Given the description of an element on the screen output the (x, y) to click on. 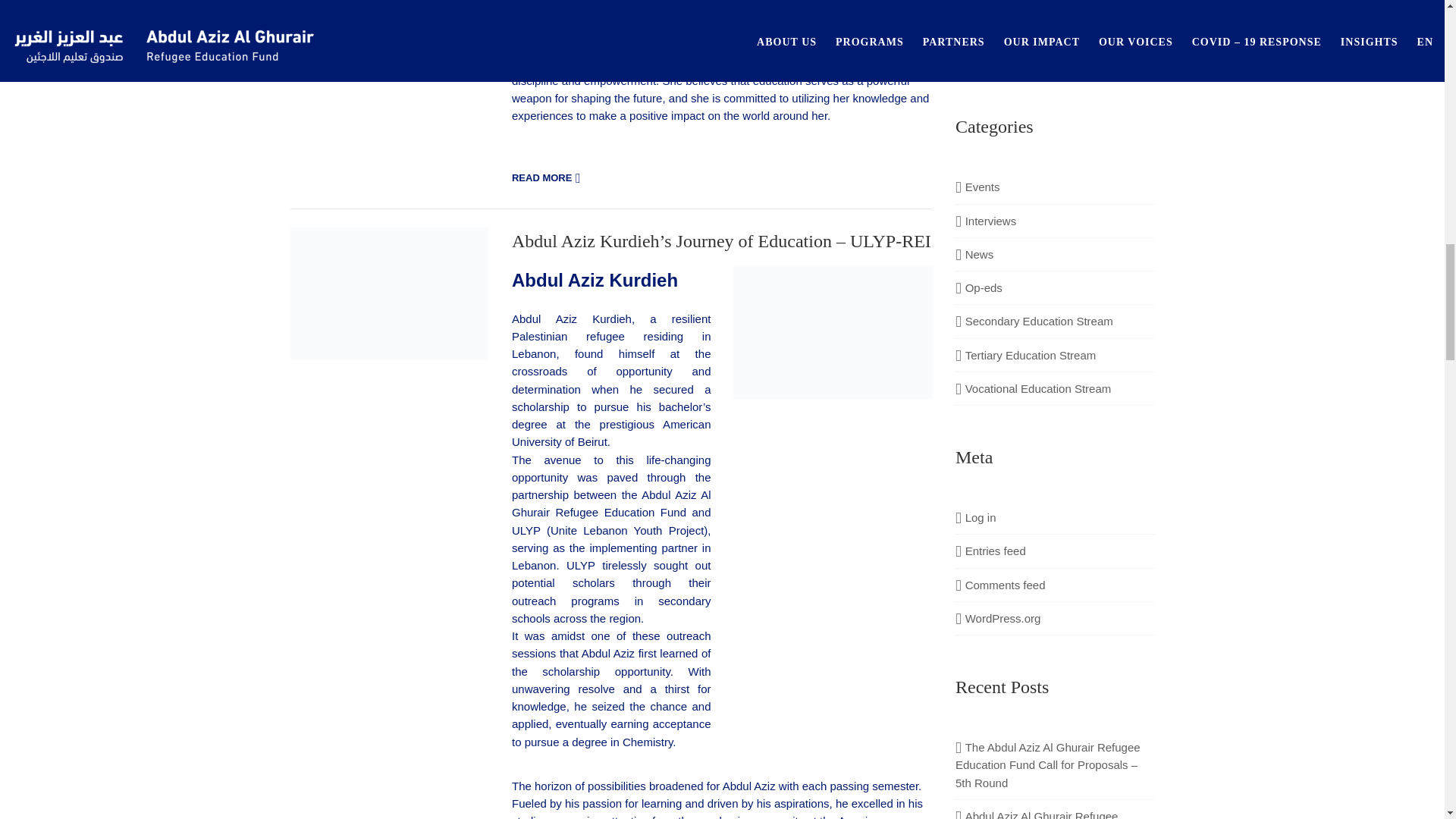
READ MORE (548, 178)
